Given the description of an element on the screen output the (x, y) to click on. 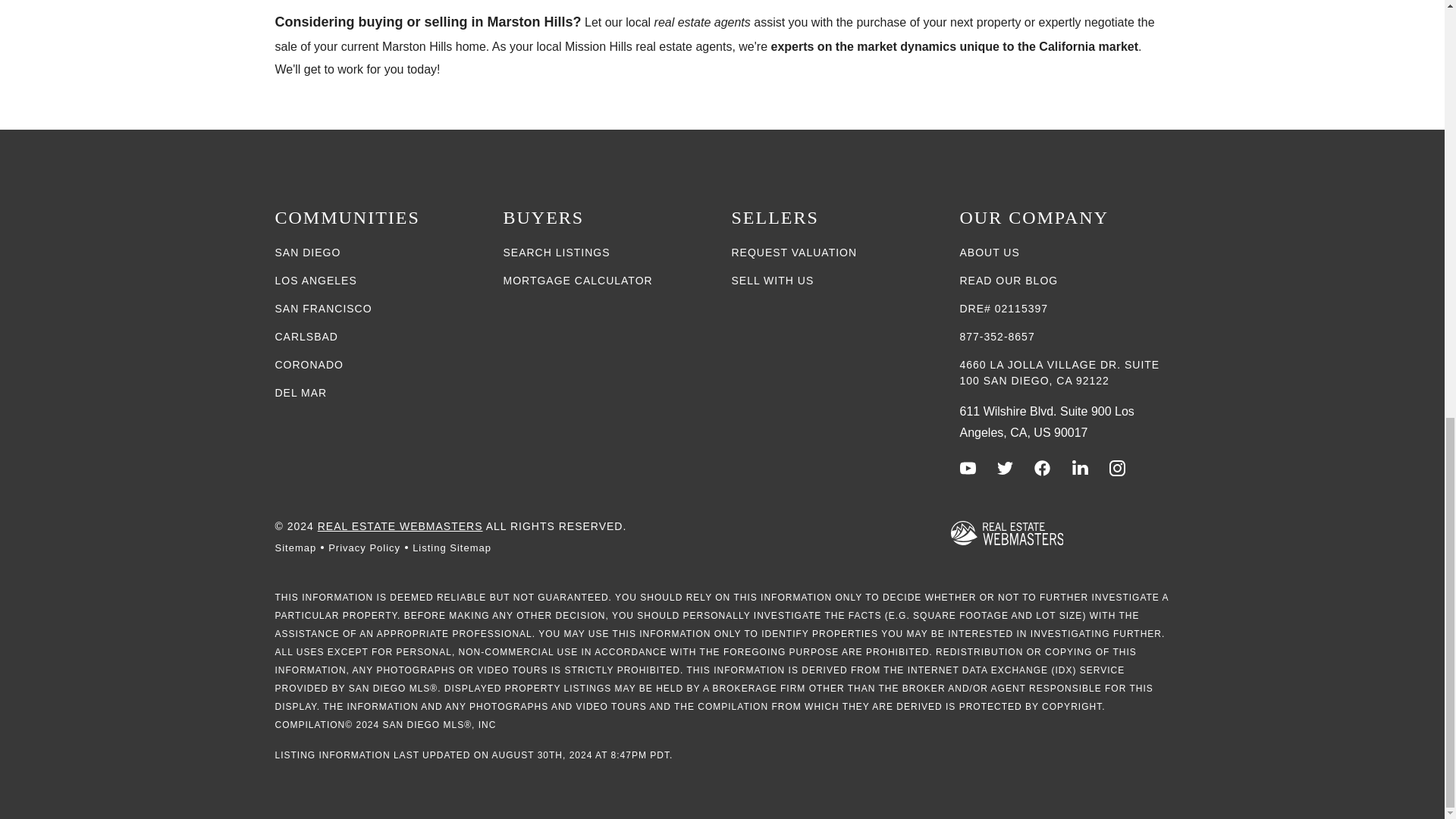
FACEBOOK (1041, 467)
TWITTER (1005, 467)
LINKEDIN (1079, 467)
YOUTUBE (967, 467)
